Given the description of an element on the screen output the (x, y) to click on. 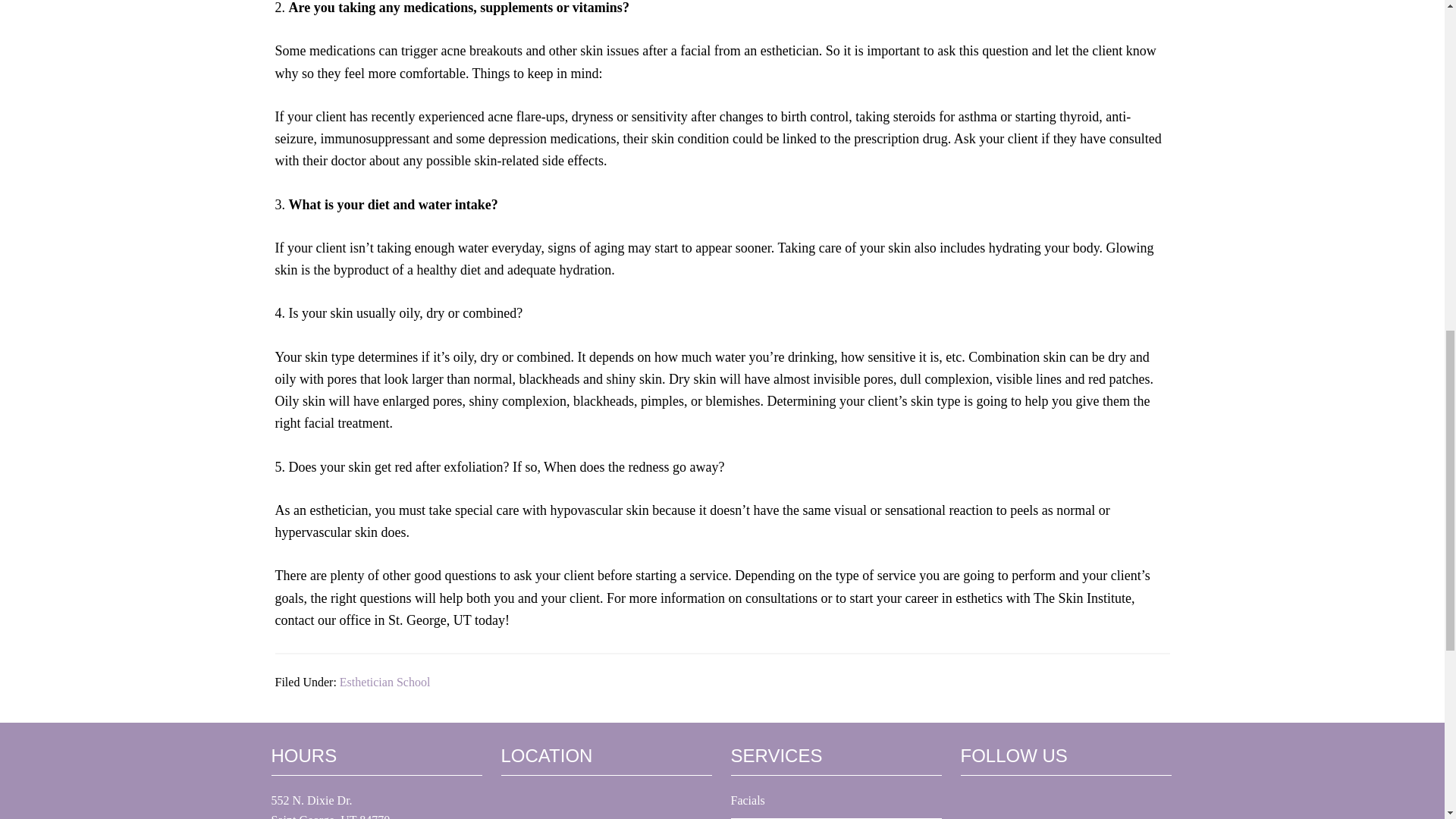
Esthetician School (384, 681)
Facials (747, 799)
